Given the description of an element on the screen output the (x, y) to click on. 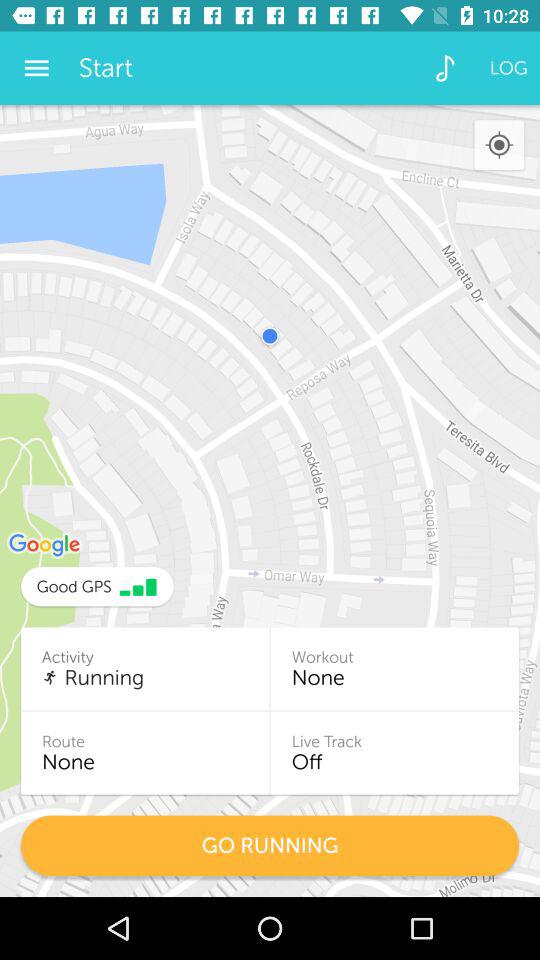
turn off app next to start (444, 67)
